Given the description of an element on the screen output the (x, y) to click on. 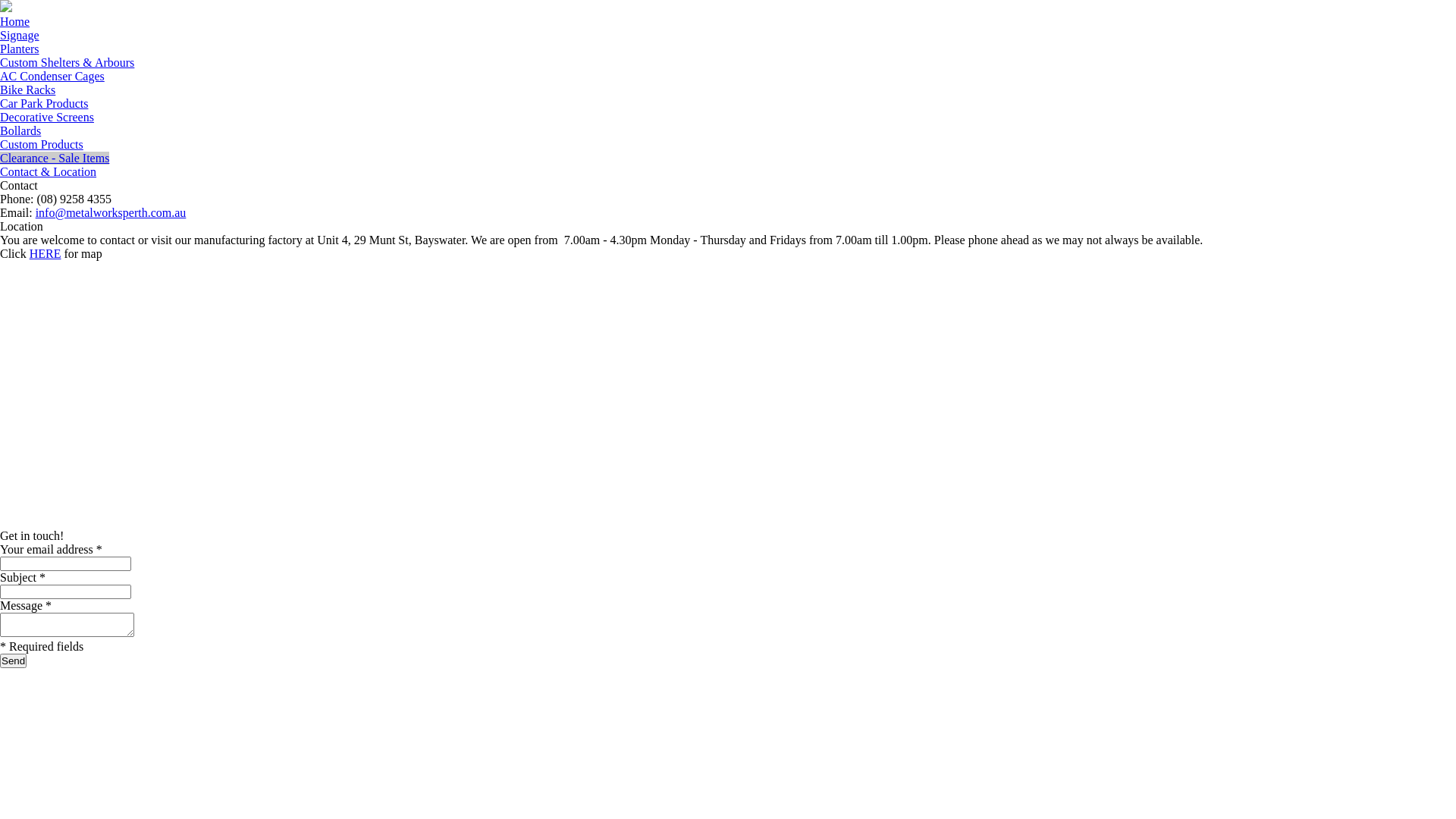
Decorative Screens Element type: text (47, 116)
Custom Shelters & Arbours Element type: text (67, 62)
Signage Element type: text (19, 34)
Planters Element type: text (19, 48)
HERE Element type: text (45, 253)
Send Element type: text (13, 660)
Home Element type: text (14, 21)
Contact & Location Element type: text (48, 171)
AC Condenser Cages Element type: text (52, 75)
Car Park Products Element type: text (43, 103)
Custom Products Element type: text (41, 144)
Clearance - Sale Items Element type: text (54, 157)
Bike Racks Element type: text (27, 89)
Bollards Element type: text (20, 130)
info@metalworksperth.com.au Element type: text (110, 212)
